Given the description of an element on the screen output the (x, y) to click on. 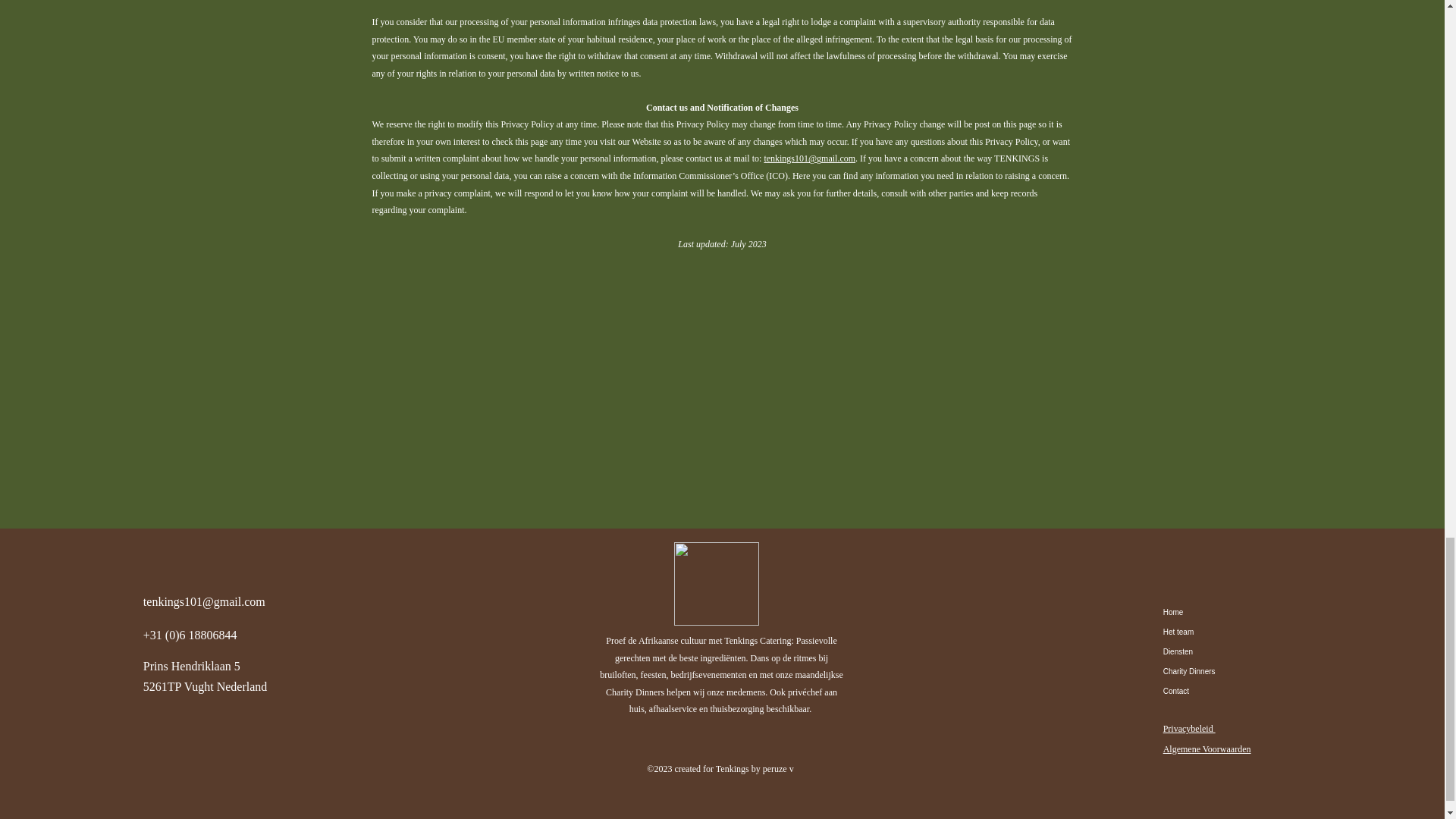
Diensten (1216, 651)
Charity Dinners (1216, 671)
Algemene Voorwaarden (1206, 748)
Home (1216, 612)
Contact (1216, 691)
Privacybeleid  (1189, 728)
Het team (1216, 632)
